Given the description of an element on the screen output the (x, y) to click on. 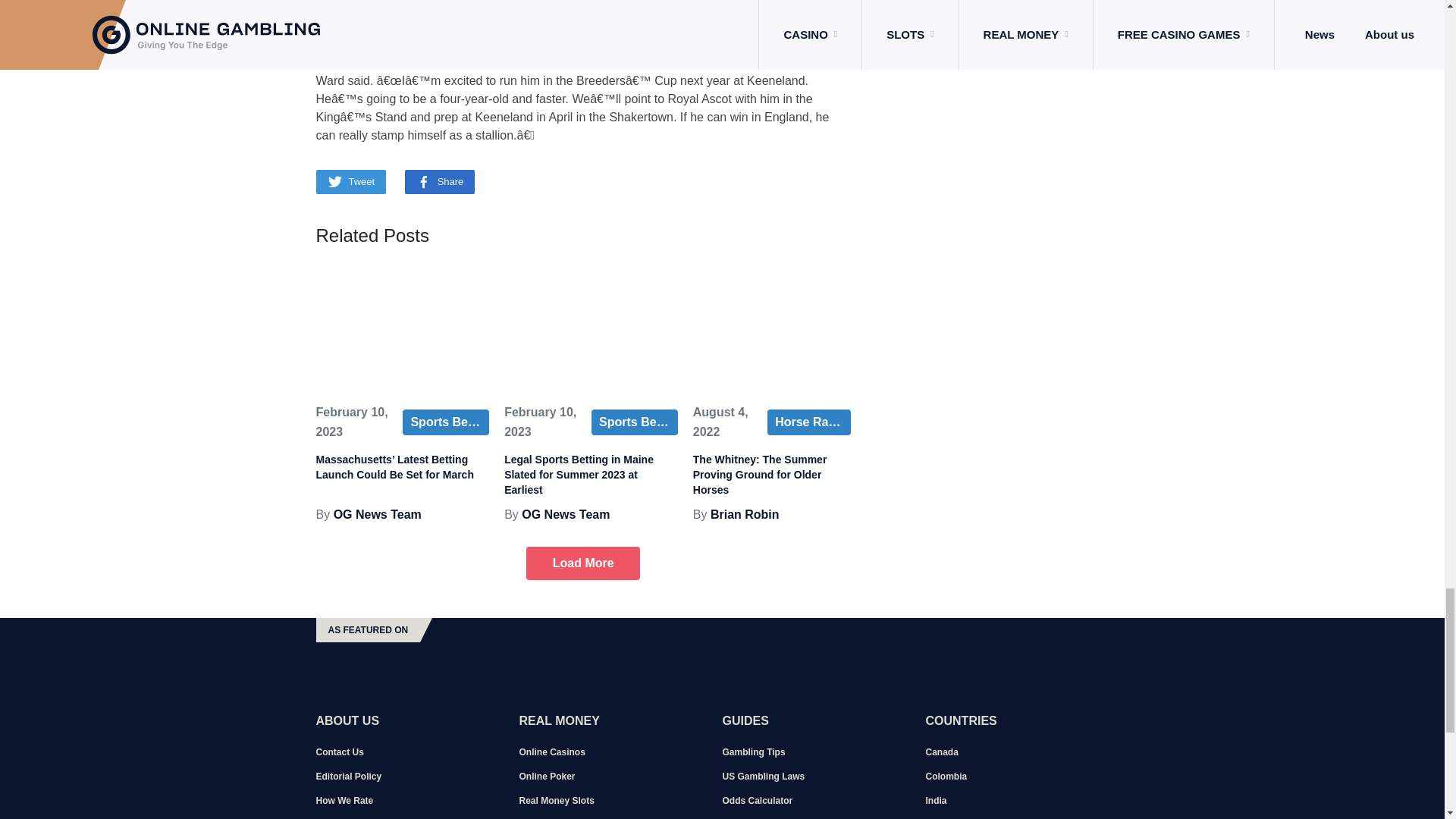
Sports Betting (446, 421)
Horse Racing (808, 421)
Tweet this on Twitter (350, 181)
Share this on Facebook (440, 181)
Sports Betting (634, 421)
